Given the description of an element on the screen output the (x, y) to click on. 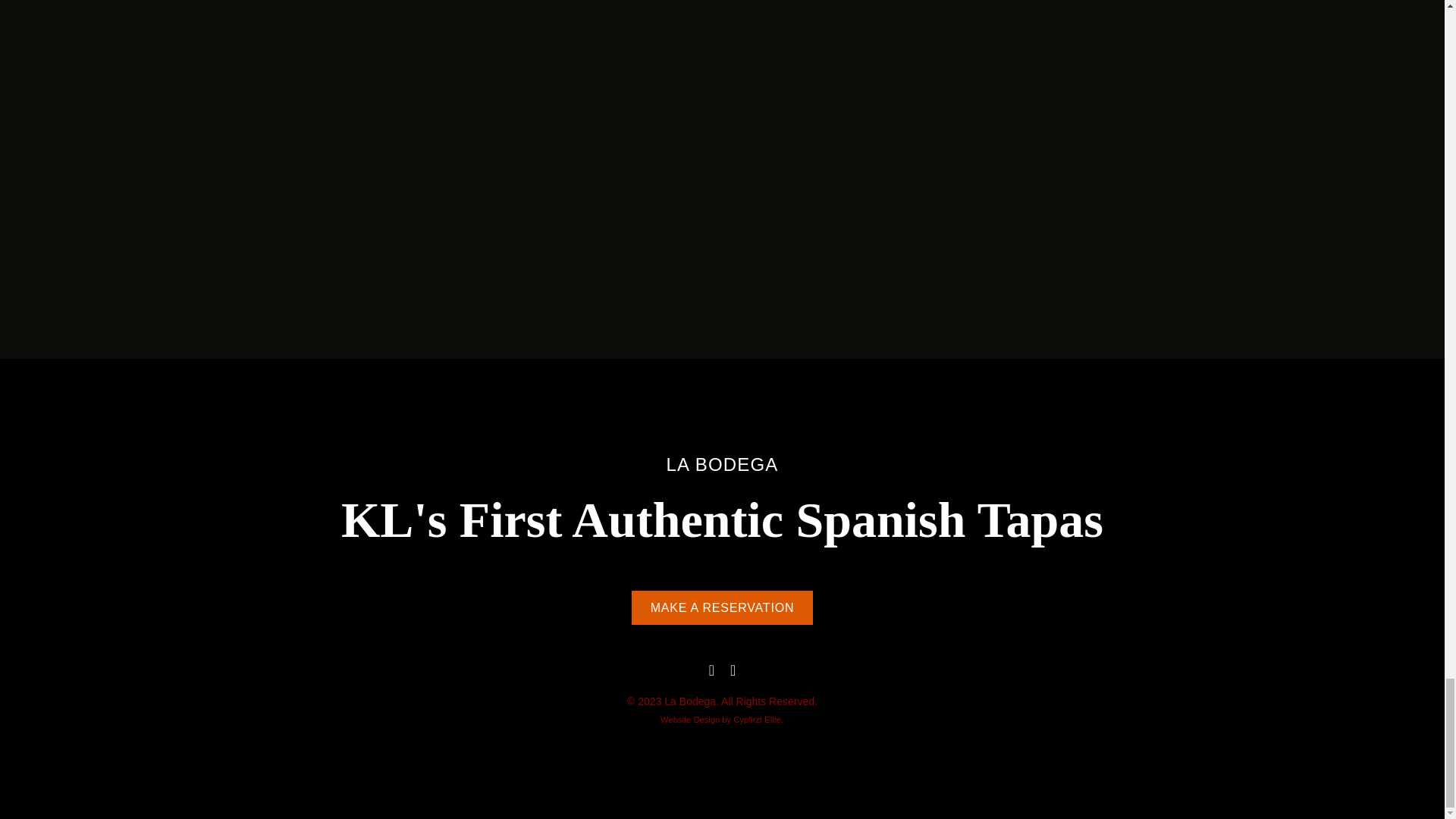
Website Design by Cypfirzt Elite (756, 718)
MAKE A RESERVATION (722, 607)
Cypfirzt Elite (756, 718)
